Given the description of an element on the screen output the (x, y) to click on. 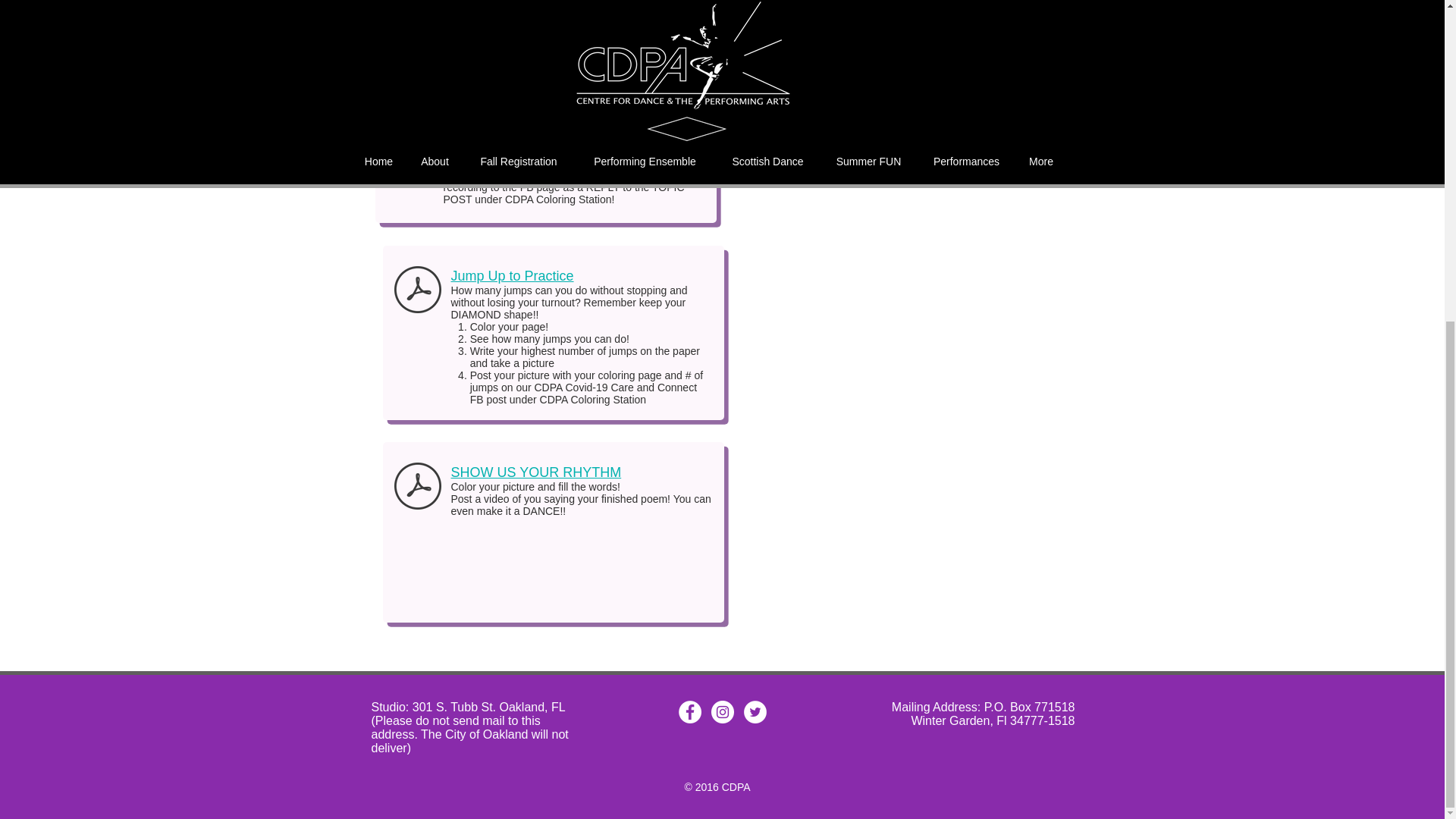
Jump Up to Practice (511, 275)
tap shoes.pdf (417, 486)
jump up.pdf (417, 291)
I CAN DANCE SUMMER COLOR.pdf (408, 155)
Pretty on Pointe.pdf (408, 21)
LOVE TO DANCE (485, 138)
SHOW US YOUR RHYTHM (535, 472)
